Given the description of an element on the screen output the (x, y) to click on. 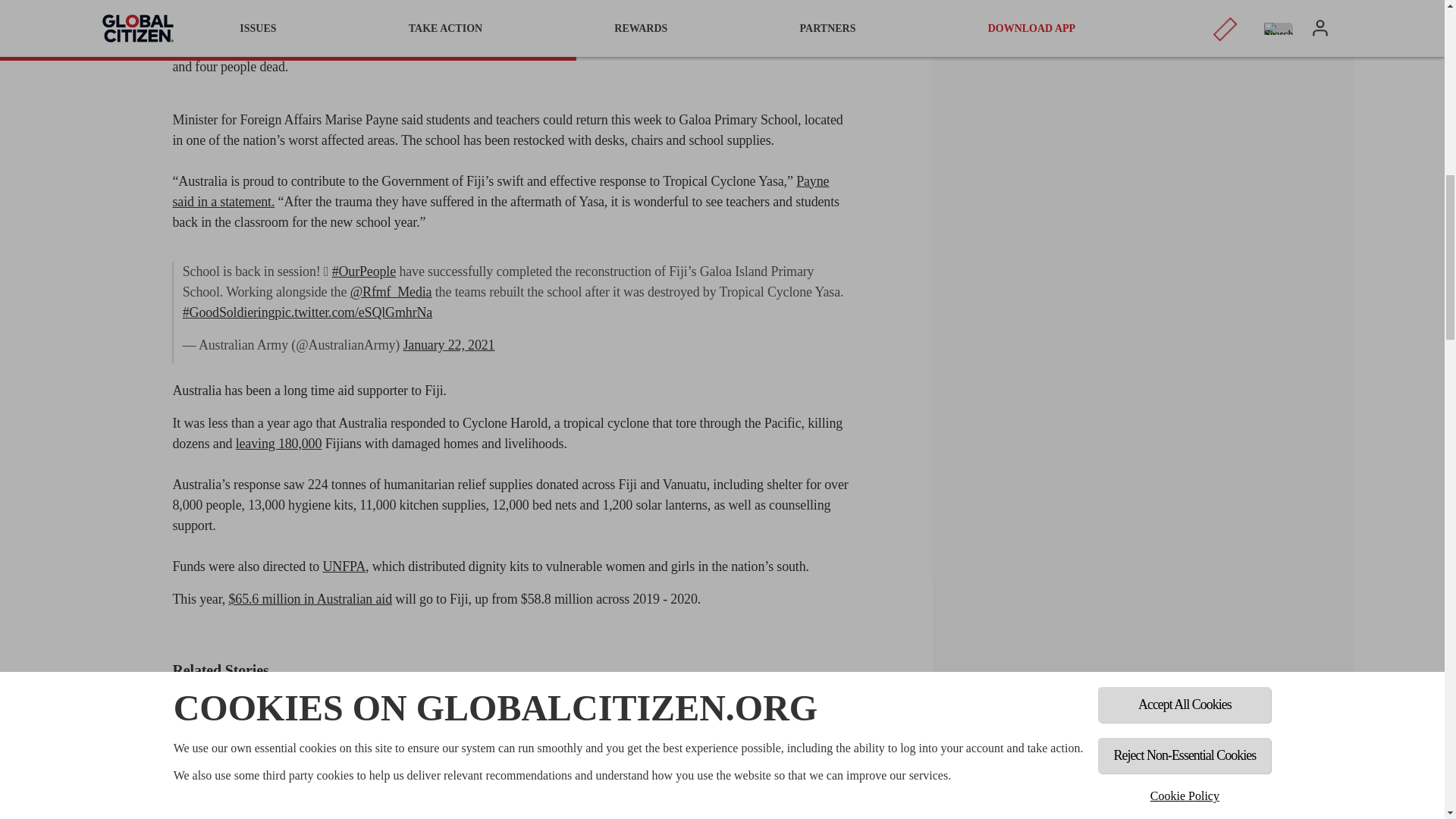
Payne said in a statement. (499, 191)
